Given the description of an element on the screen output the (x, y) to click on. 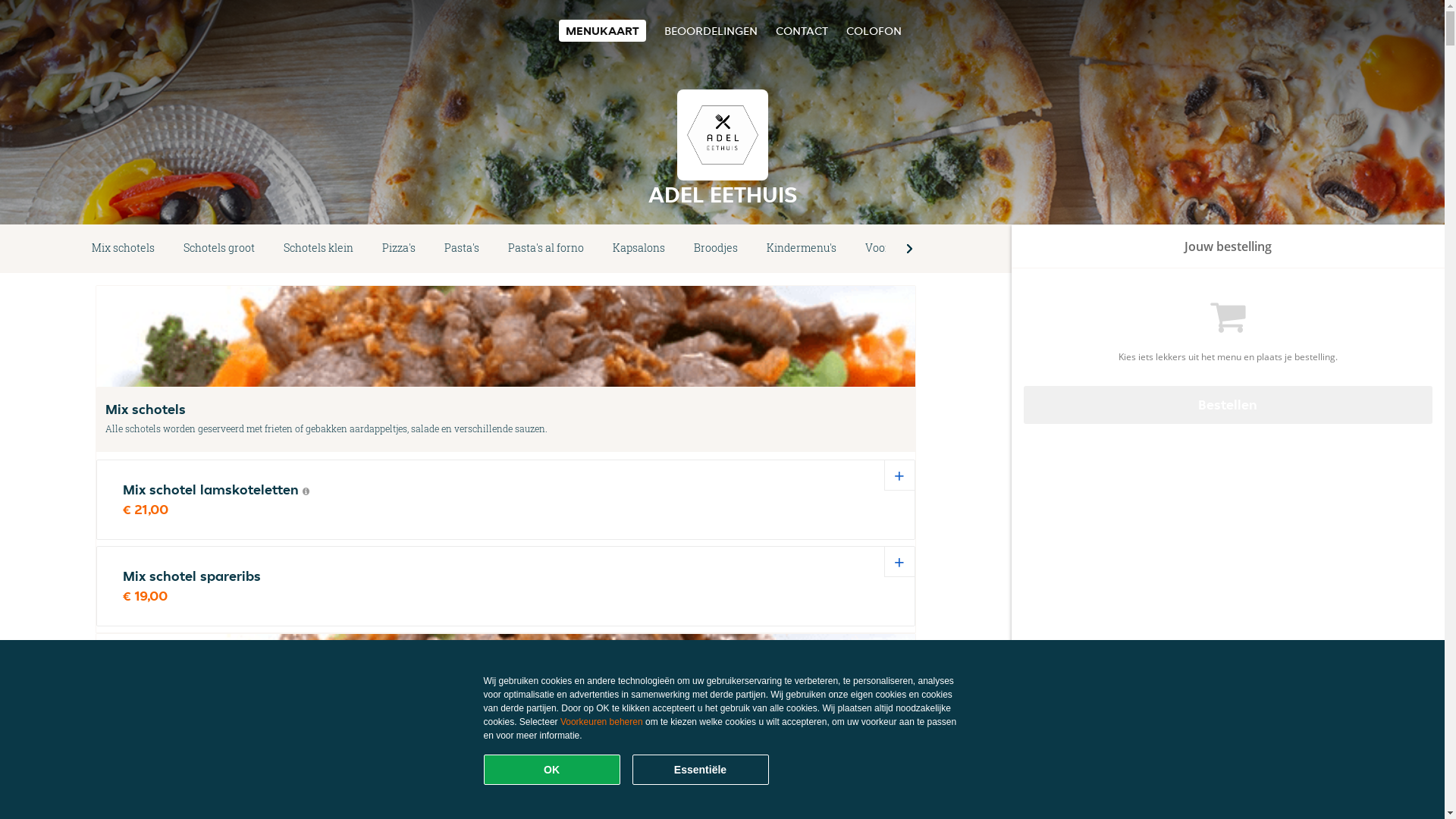
BEOORDELINGEN Element type: text (710, 30)
Schotels klein Element type: text (318, 248)
MENUKAART Element type: text (601, 30)
Voorkeuren beheren Element type: text (601, 721)
Meer productinformatie Element type: hover (305, 491)
Pizza's Element type: text (398, 248)
Kindermenu's Element type: text (801, 248)
CONTACT Element type: text (801, 30)
COLOFON Element type: text (873, 30)
Kapsalons Element type: text (638, 248)
OK Element type: text (551, 769)
Broodjes Element type: text (715, 248)
Voorgerechten Element type: text (902, 248)
Pasta's Element type: text (461, 248)
Mix schotels Element type: text (123, 248)
Schotels groot Element type: text (219, 248)
Pasta's al forno Element type: text (545, 248)
Bestellen Element type: text (1228, 404)
